Given the description of an element on the screen output the (x, y) to click on. 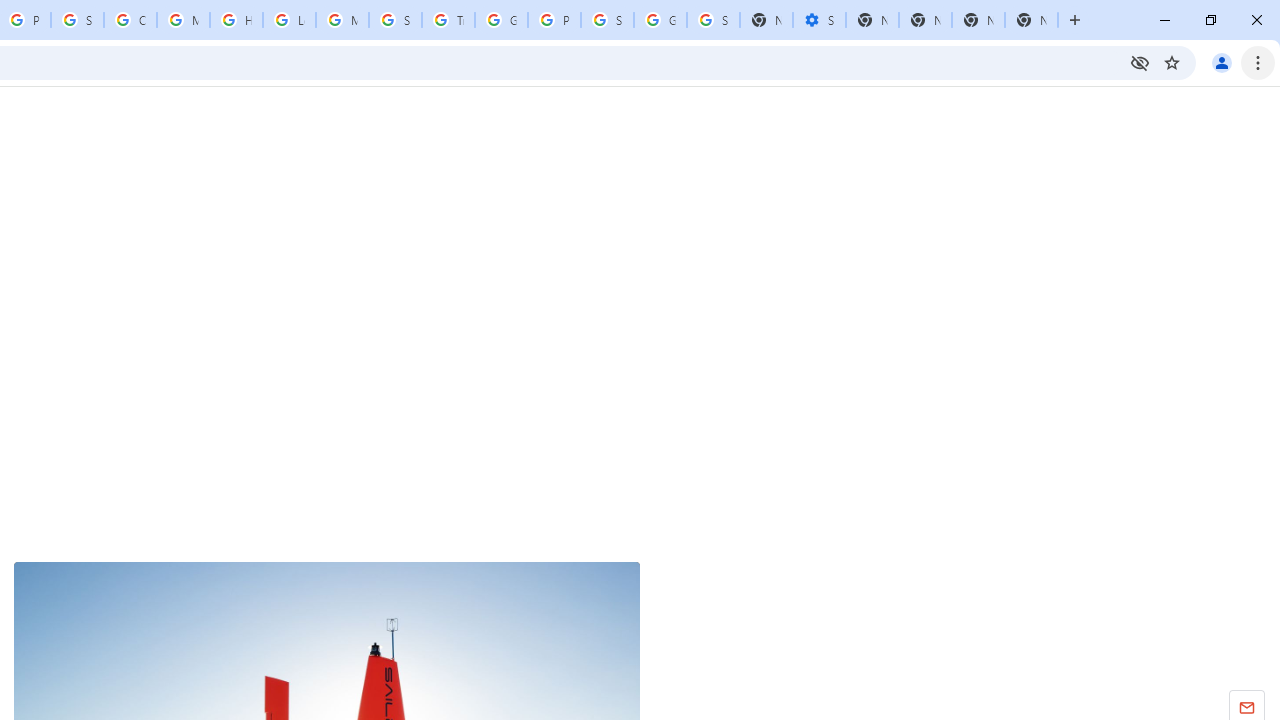
Search our Doodle Library Collection - Google Doodles (395, 20)
Sign in - Google Accounts (713, 20)
New Tab (1031, 20)
